Given the description of an element on the screen output the (x, y) to click on. 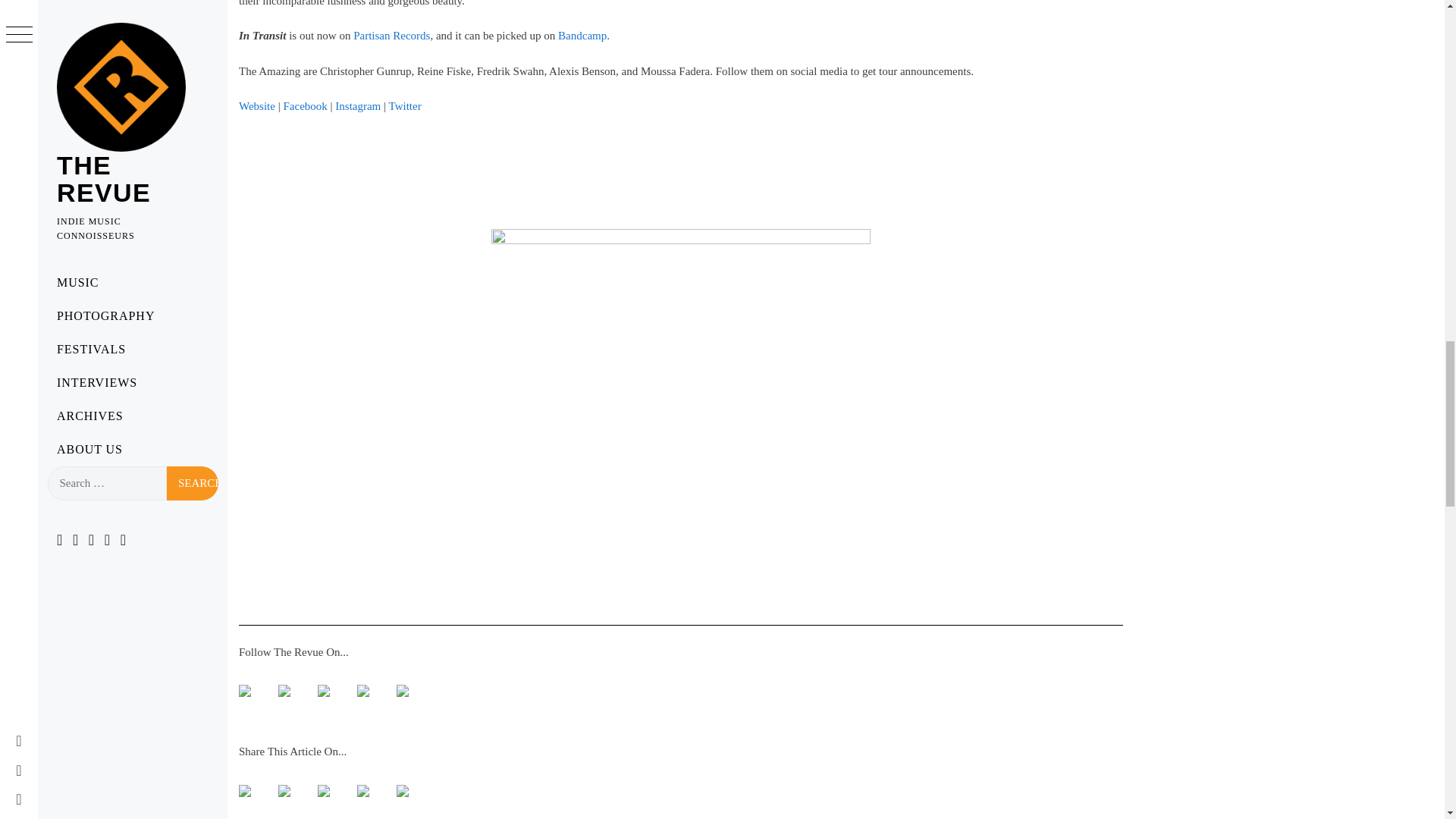
Follow The Revue on Instagram (402, 690)
Follow The Revue on Instagram (408, 696)
Follow The Revue on Tumblr (362, 690)
Follow The Revue on Facebook (250, 696)
Follow The Revue on Tumblr (368, 696)
Follow The Revue on YouTube (329, 696)
Follow The Revue on YouTube (323, 690)
Follow The Revue on Twitter (290, 696)
Follow The Revue on Twitter (283, 690)
Follow The Revue on Facebook (244, 690)
